Given the description of an element on the screen output the (x, y) to click on. 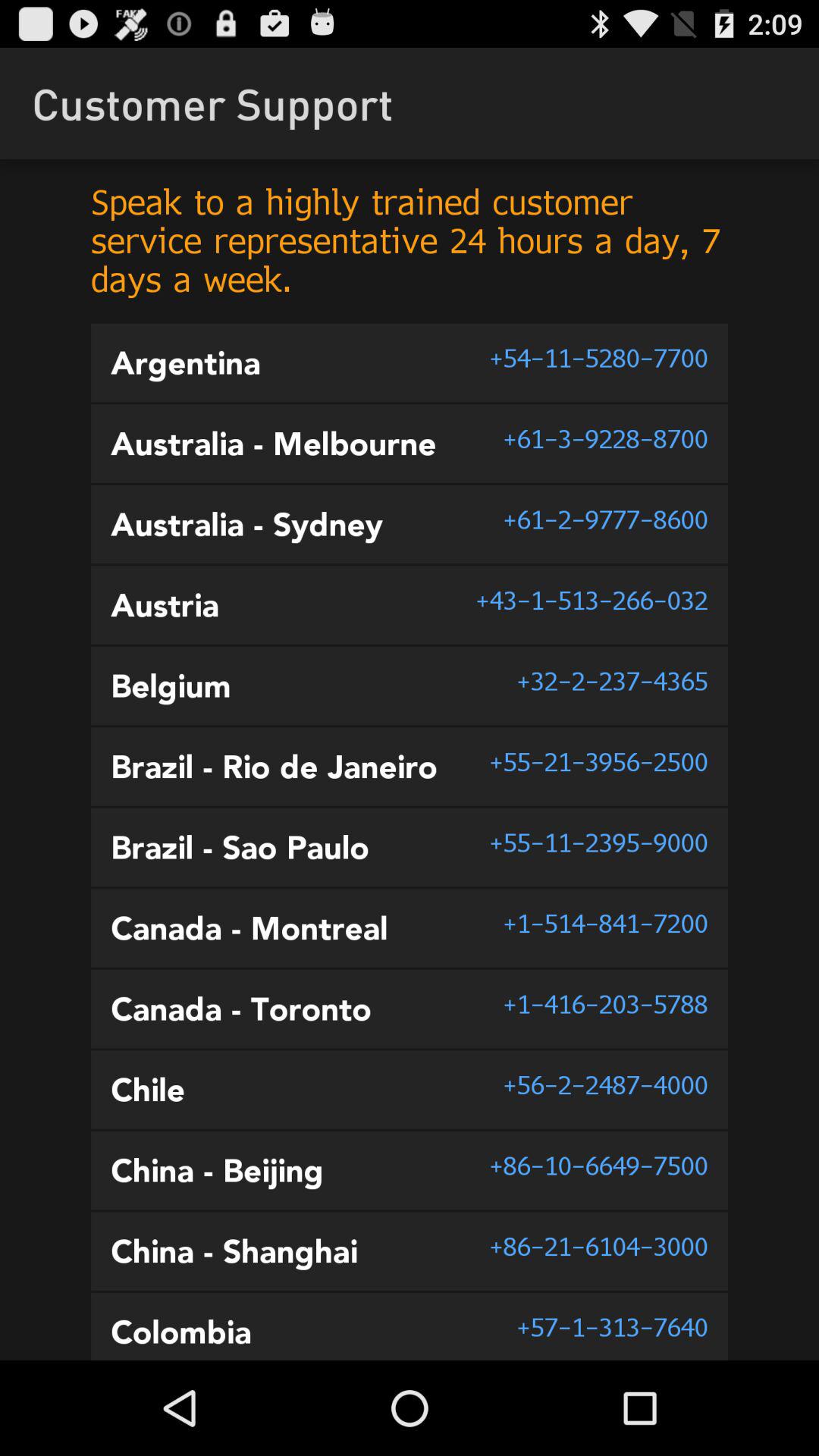
select the item above the 43 1 513 (605, 519)
